Given the description of an element on the screen output the (x, y) to click on. 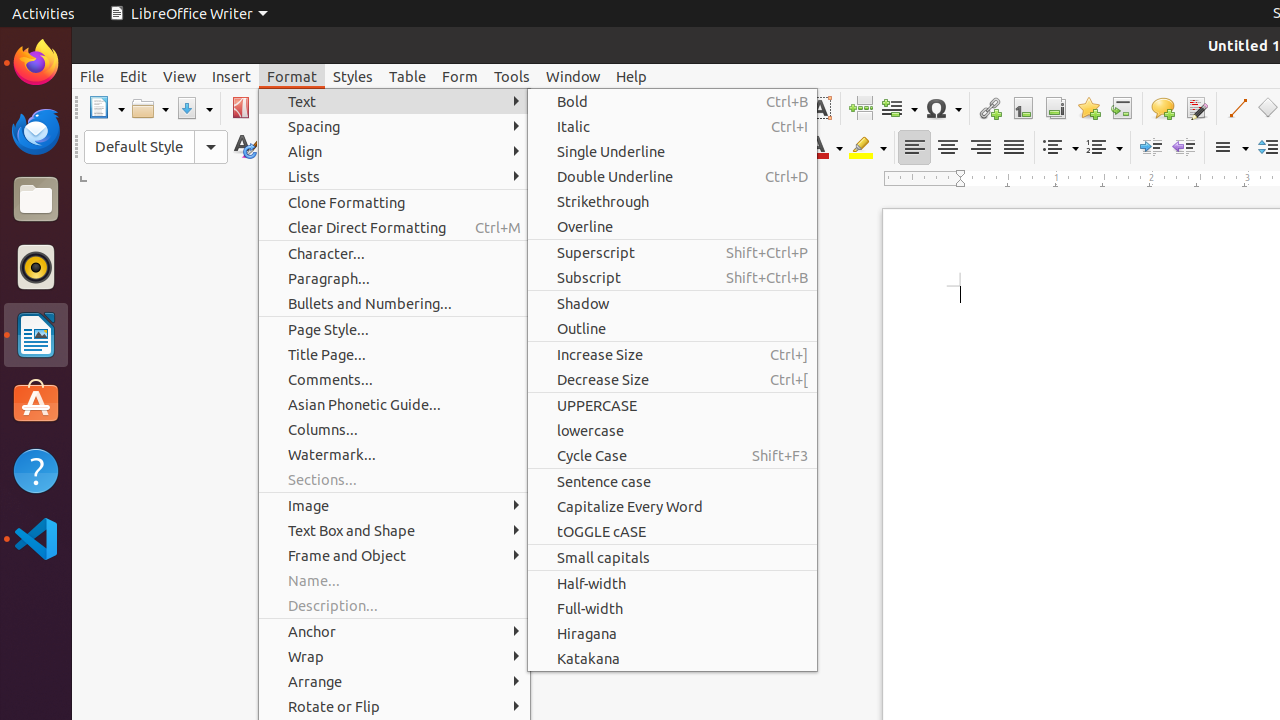
Field Element type: push-button (899, 108)
Save Element type: push-button (194, 108)
Page Break Element type: push-button (860, 108)
Table Element type: push-button (715, 108)
Italic Element type: toggle-button (596, 147)
